Given the description of an element on the screen output the (x, y) to click on. 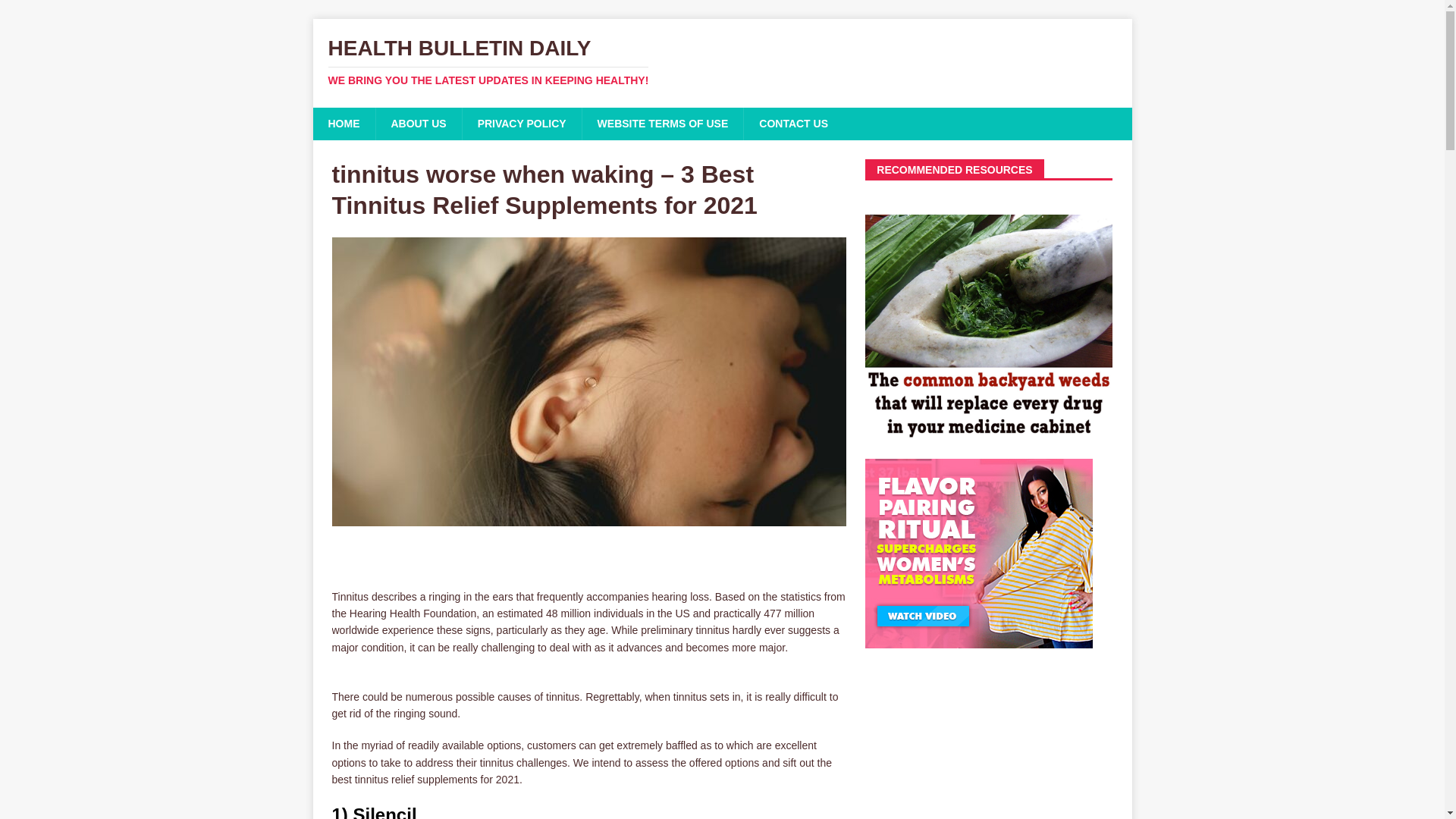
ABOUT US (417, 123)
HOME (343, 123)
Health Bulletin Daily (721, 61)
WEBSITE TERMS OF USE (662, 123)
PRIVACY POLICY (520, 123)
CONTACT US (792, 123)
